Given the description of an element on the screen output the (x, y) to click on. 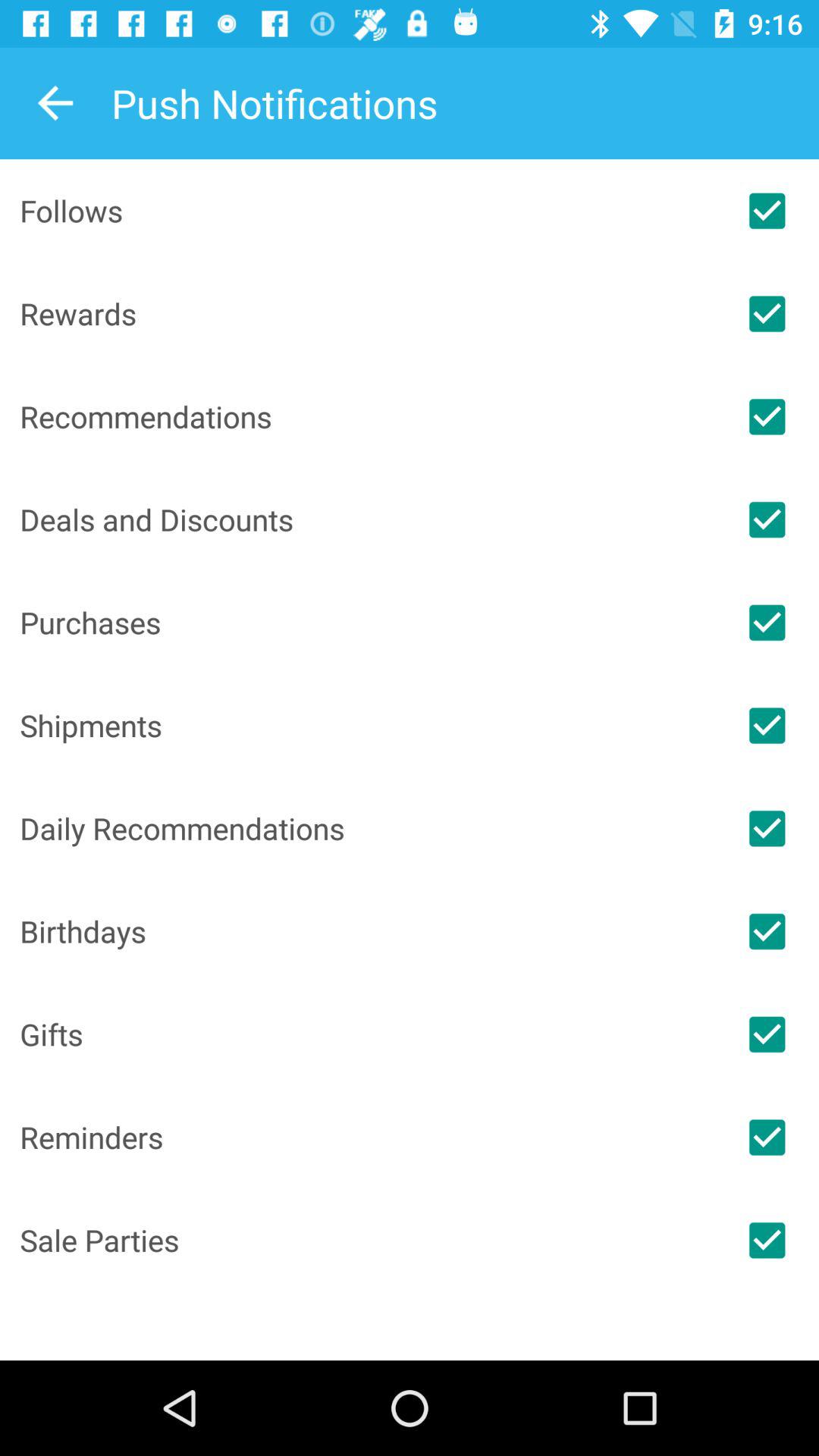
enable/disable notifications for recommendations (767, 416)
